Given the description of an element on the screen output the (x, y) to click on. 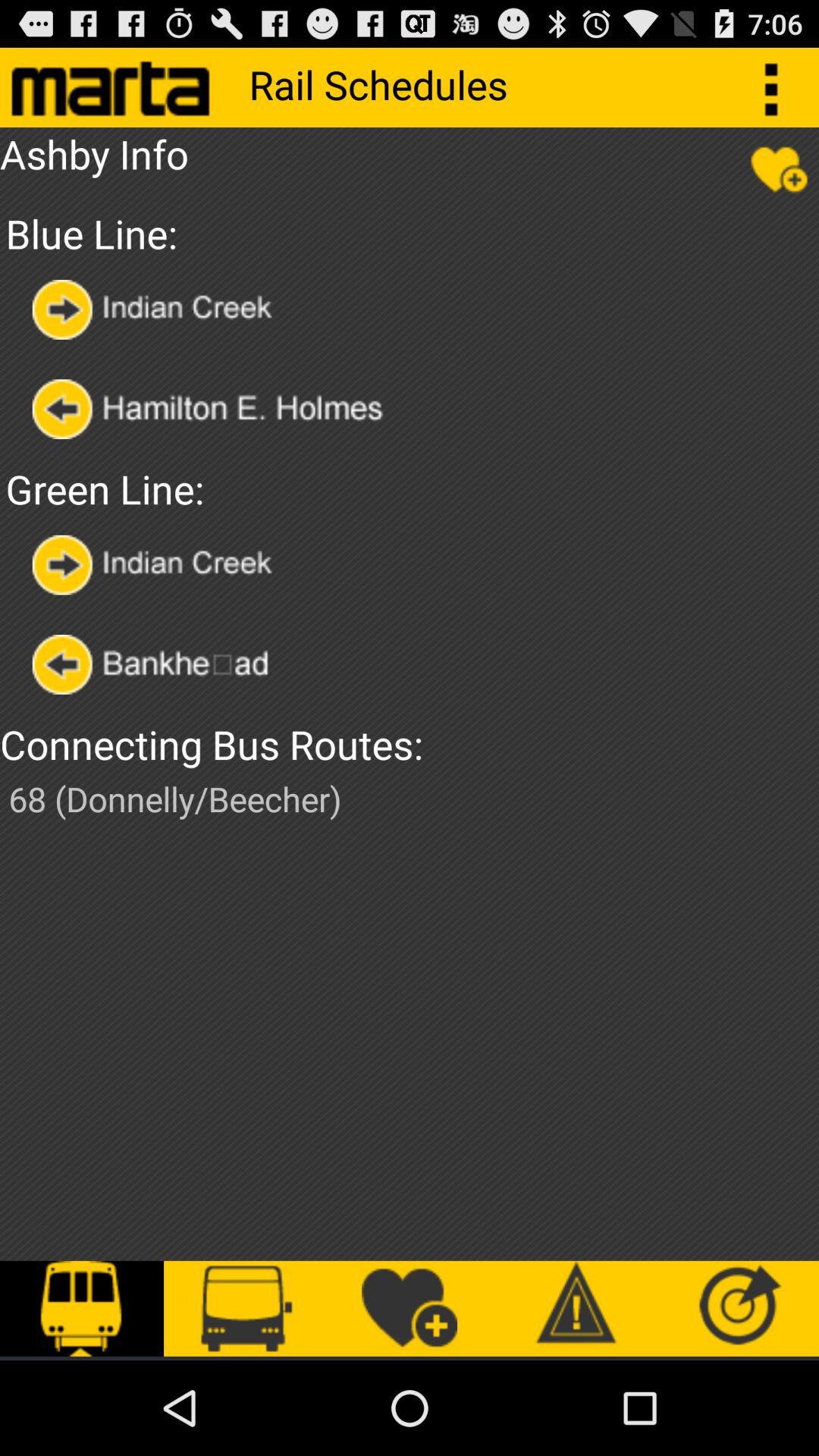
go back (163, 664)
